Given the description of an element on the screen output the (x, y) to click on. 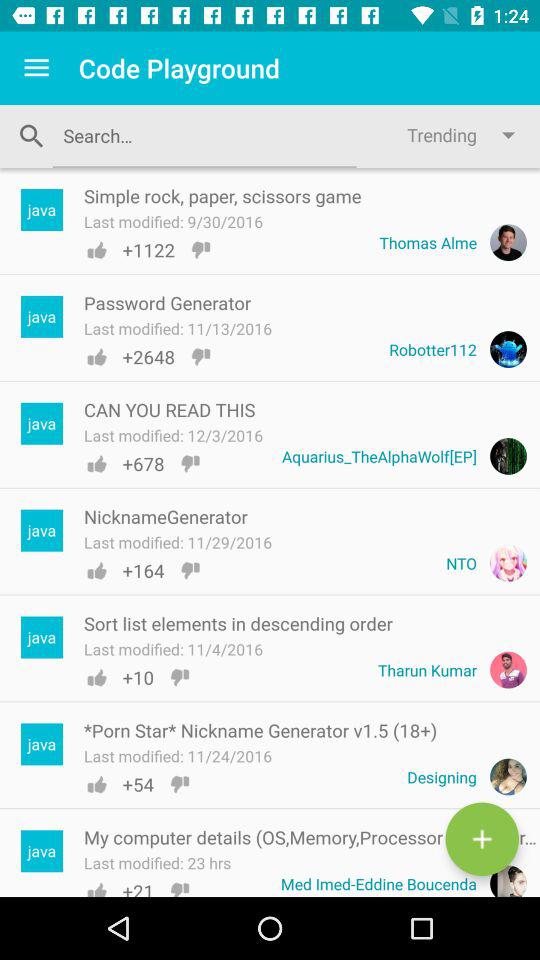
see computer details (482, 839)
